Given the description of an element on the screen output the (x, y) to click on. 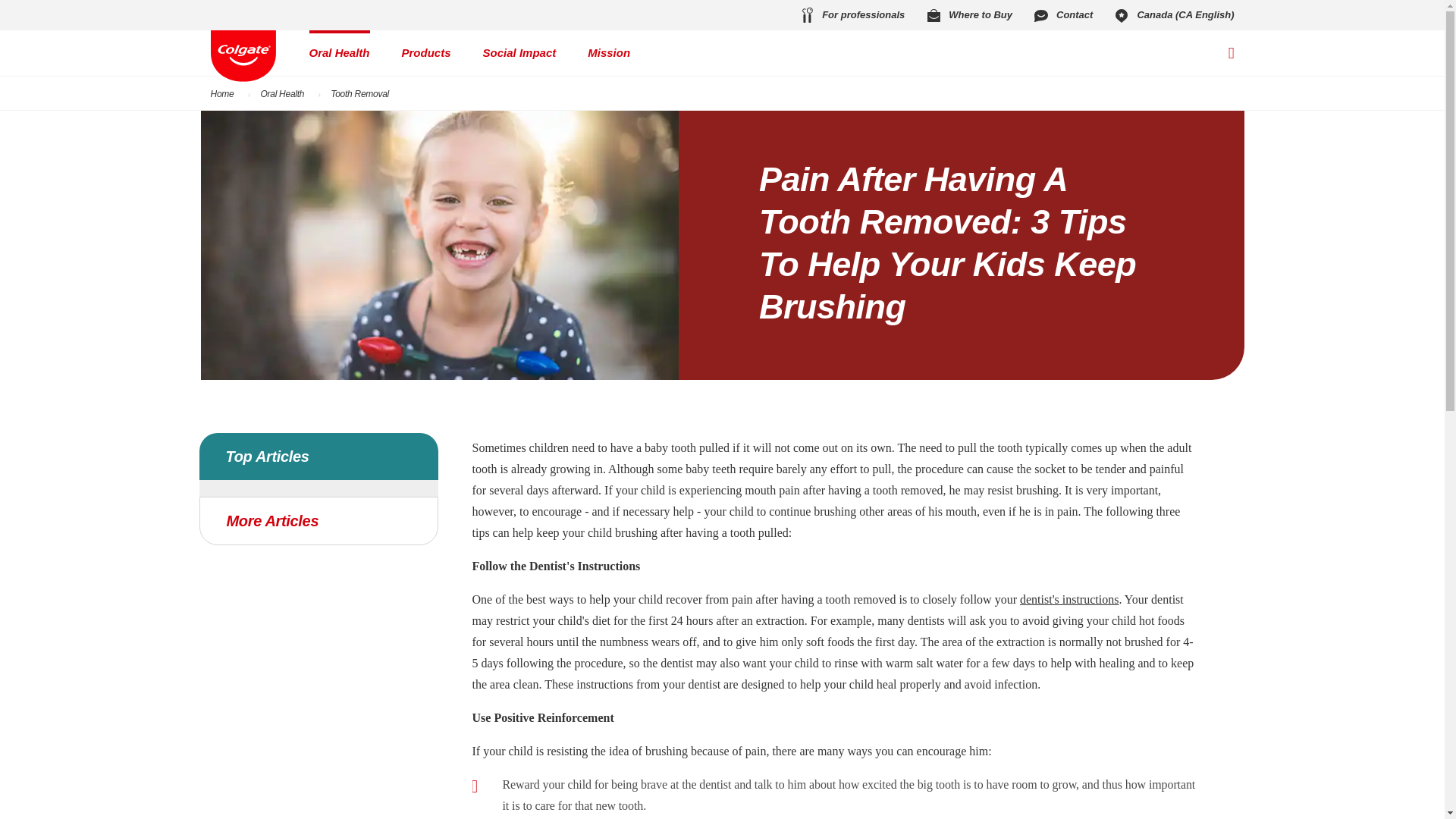
Contact (1062, 14)
Where to Buy (967, 14)
Where to Buy icon (933, 15)
Contact icon (1040, 15)
For professionals (850, 15)
Location icon (1121, 15)
Social Impact (519, 52)
Mission (609, 52)
Products (426, 52)
home (243, 55)
